Given the description of an element on the screen output the (x, y) to click on. 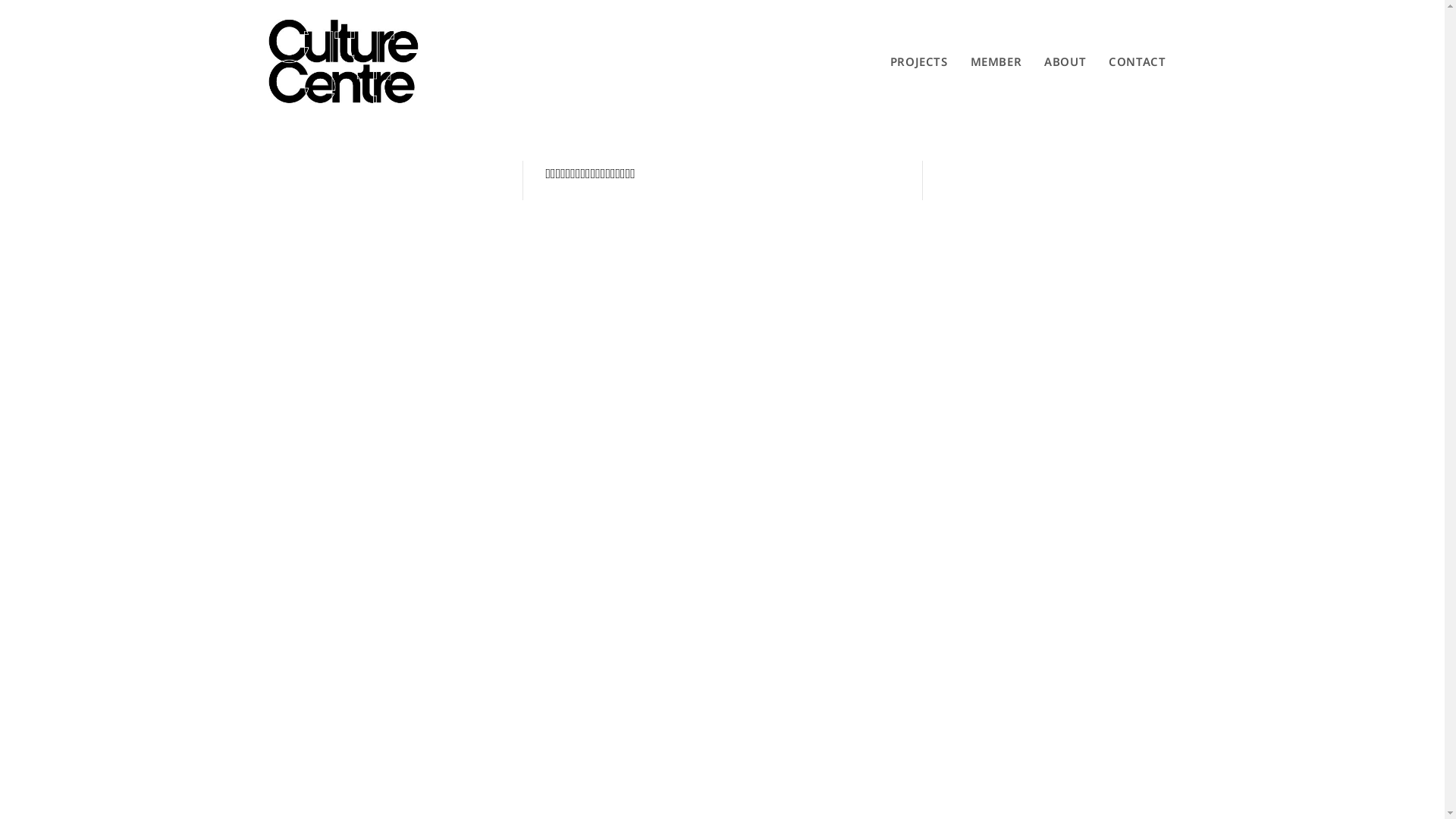
CONTACT Element type: text (1136, 61)
ABOUT Element type: text (1064, 61)
MEMBER Element type: text (996, 61)
PROJECTS Element type: text (918, 61)
